Given the description of an element on the screen output the (x, y) to click on. 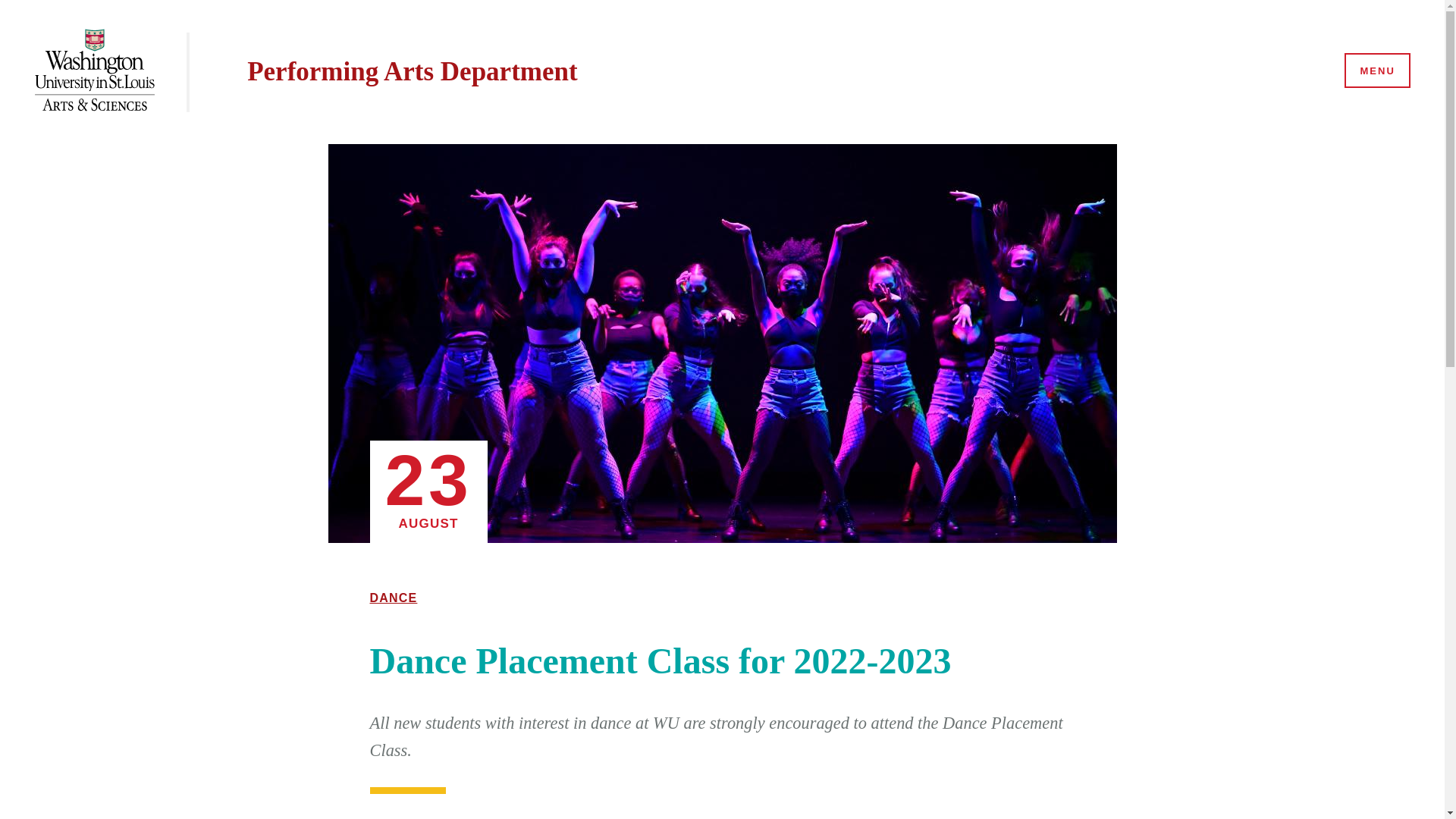
MENU (1376, 71)
DANCE (393, 597)
Performing Arts Department (411, 71)
